Given the description of an element on the screen output the (x, y) to click on. 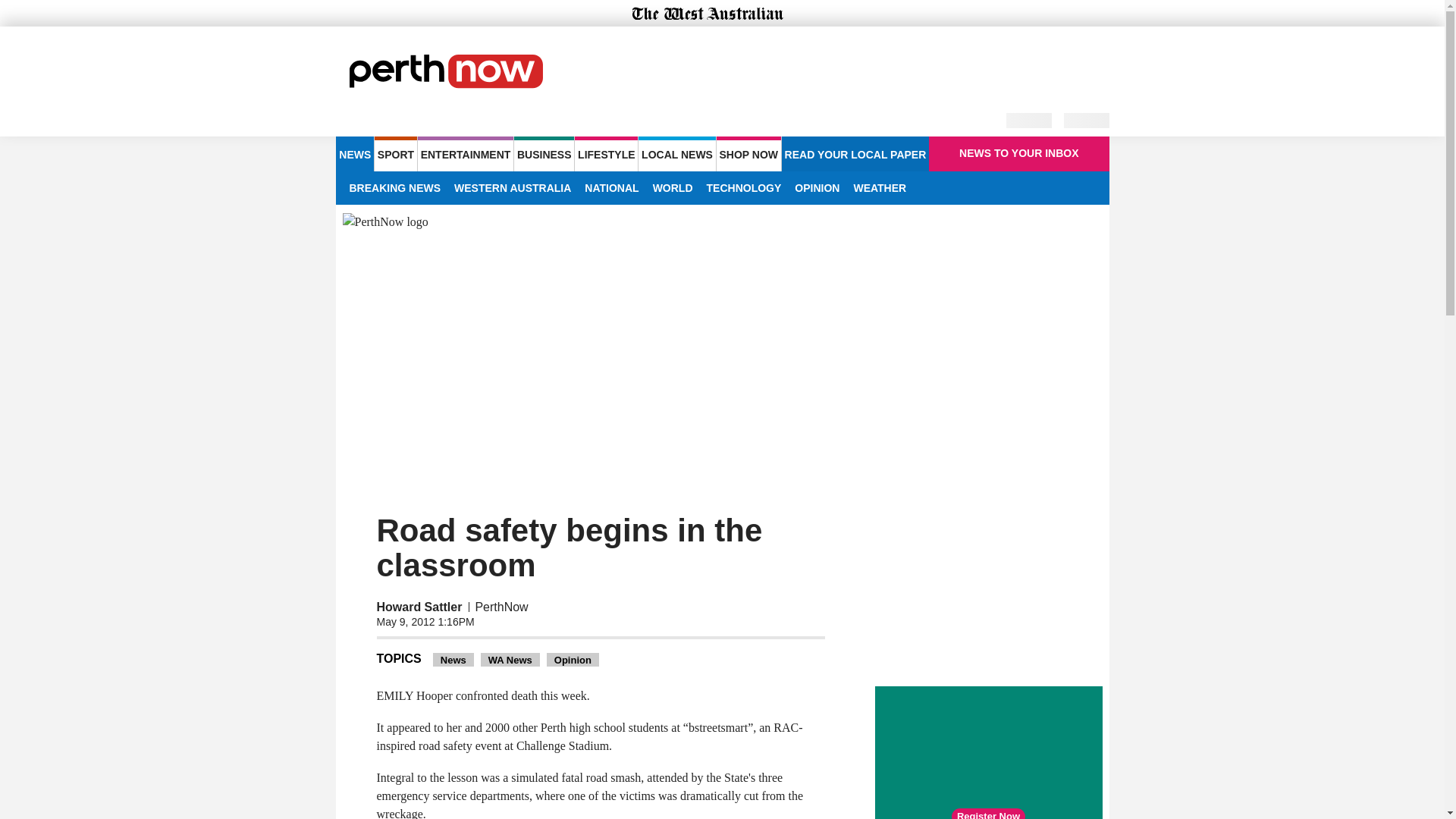
SPORT (395, 153)
ENTERTAINMENT (465, 153)
BUSINESS (543, 153)
NEWS (354, 153)
